Given the description of an element on the screen output the (x, y) to click on. 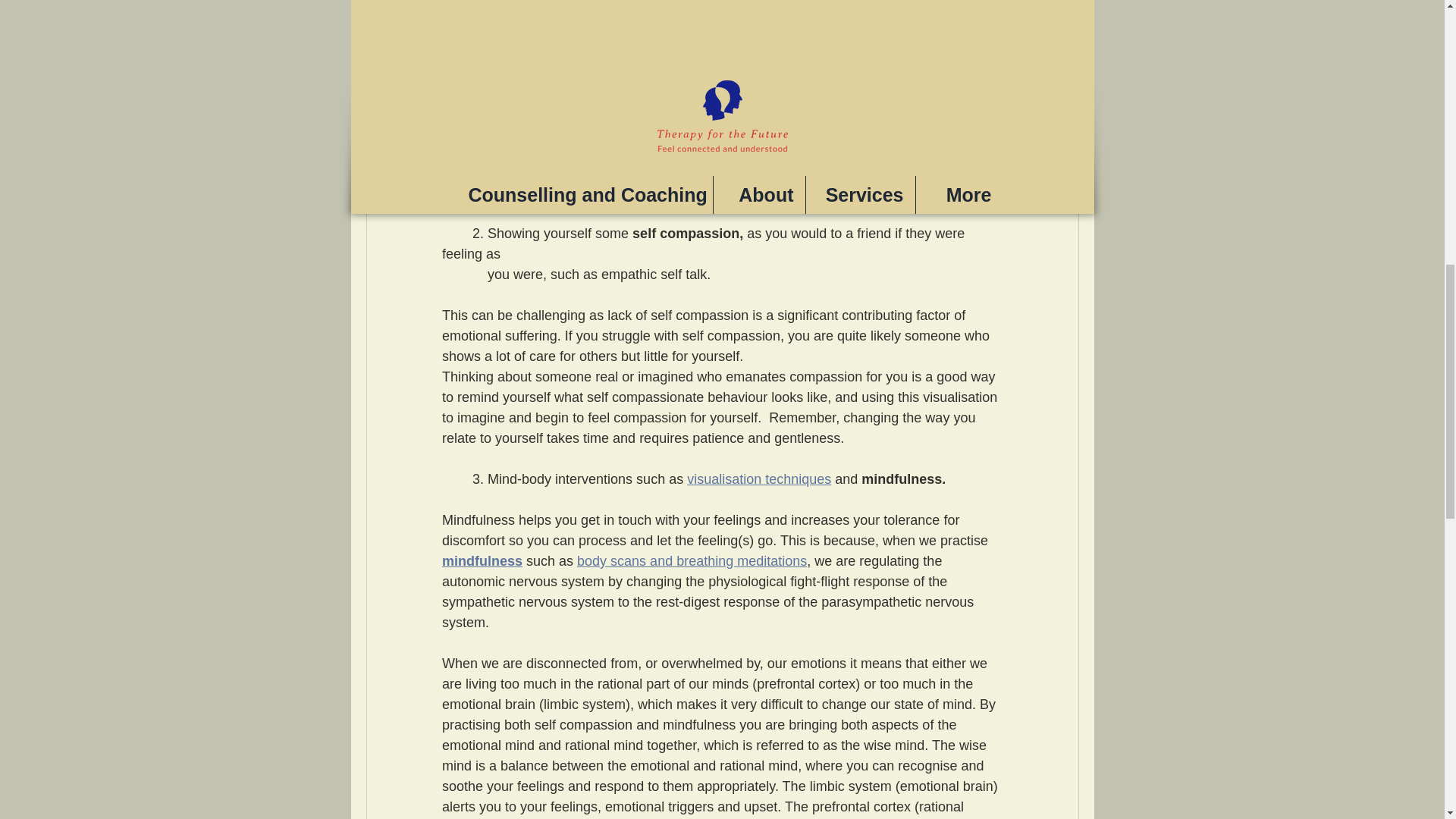
visualisation techniques (759, 478)
feelings wheel (667, 192)
body scans and breathing meditations (691, 560)
mindfulness (481, 560)
